Given the description of an element on the screen output the (x, y) to click on. 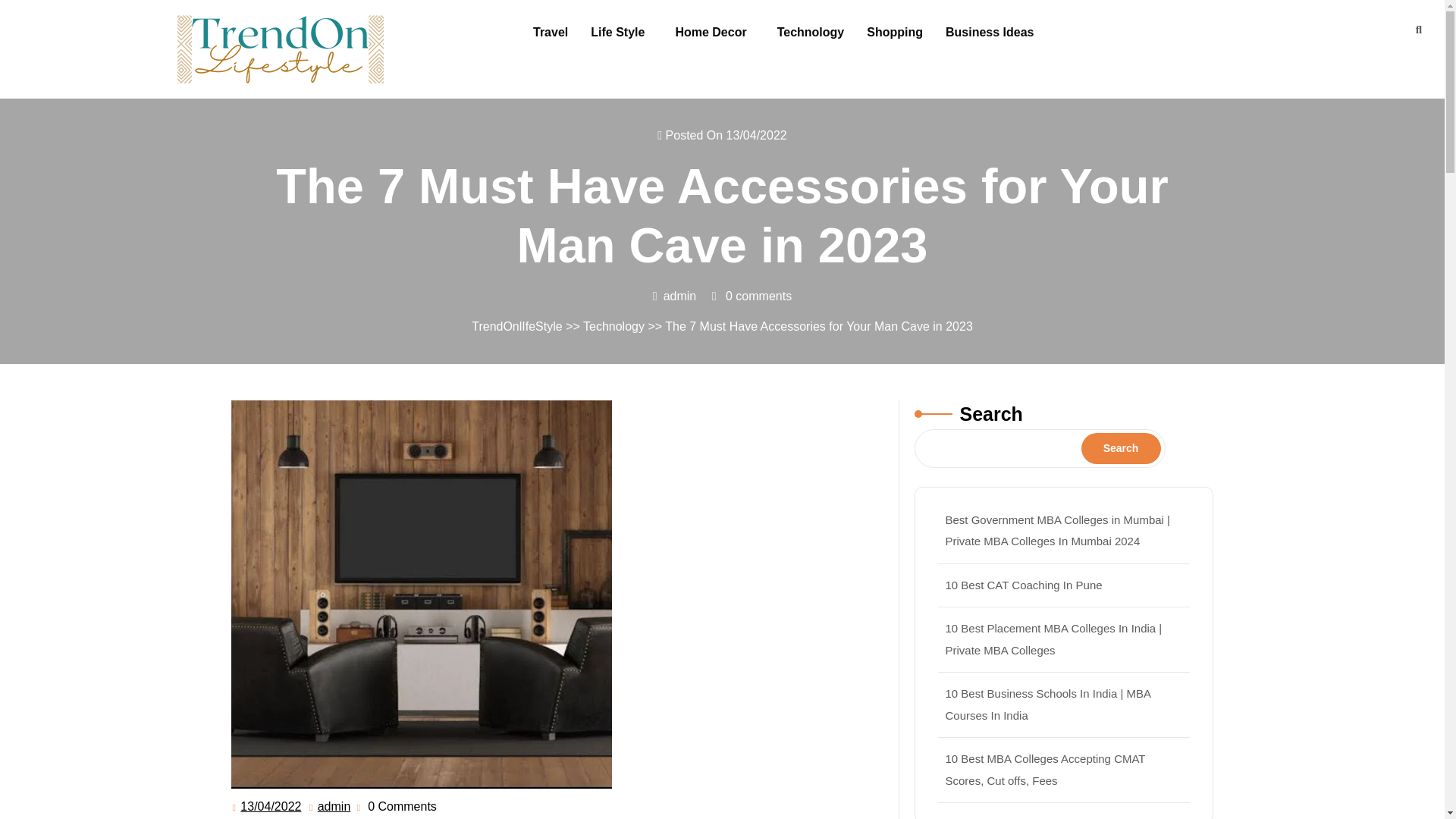
Shopping (895, 32)
Technology (810, 32)
Home Decor (714, 32)
10 Best CAT Coaching In Pune (1023, 584)
Business Ideas (989, 32)
Technology (614, 326)
TrendOnlIfeStyle (516, 326)
Travel (550, 32)
10 Best MBA Colleges Accepting CMAT Scores, Cut offs, Fees (1044, 769)
Search (1120, 447)
admin (333, 806)
Life Style (621, 32)
